Given the description of an element on the screen output the (x, y) to click on. 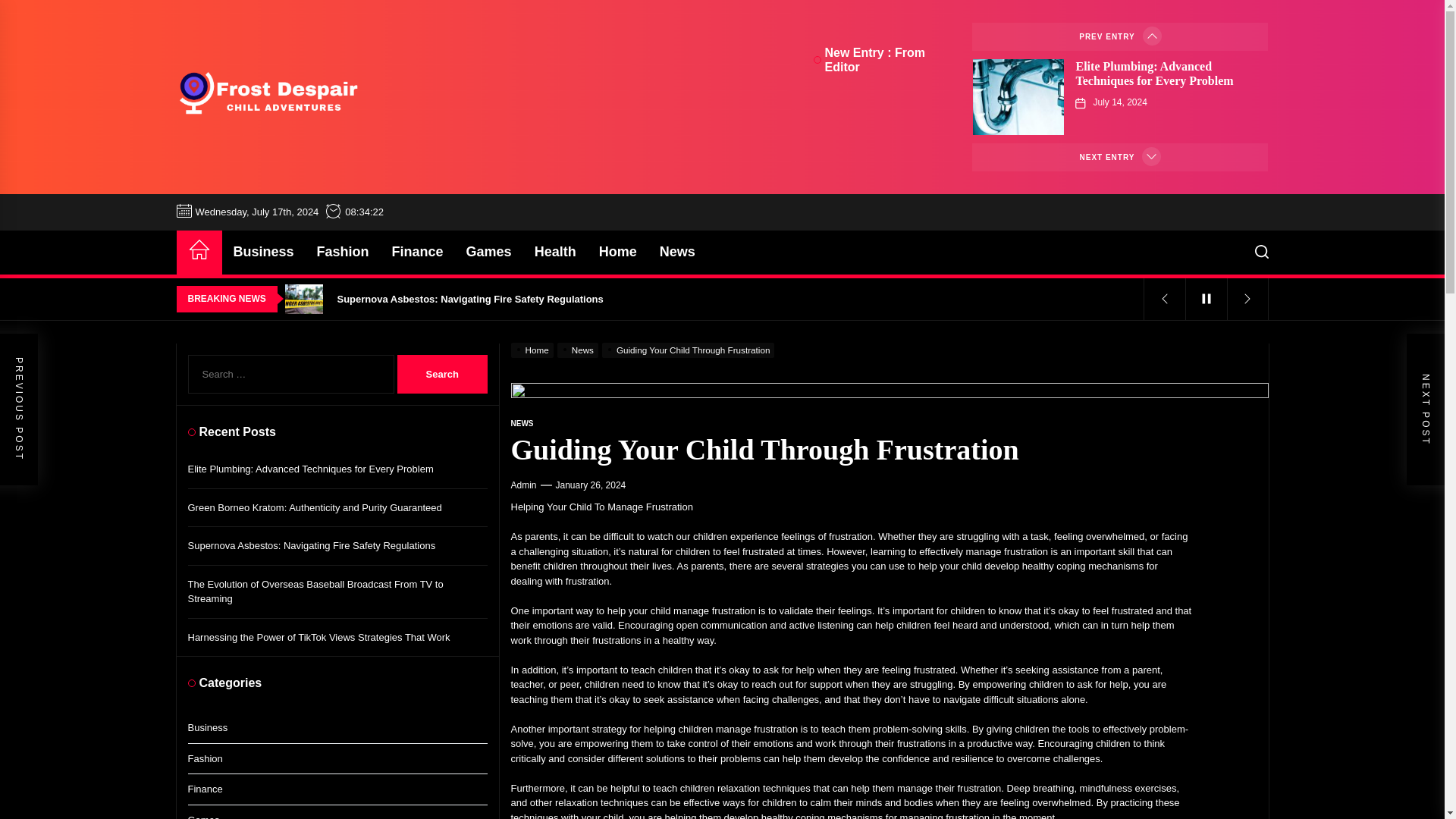
July 14, 2024 (1120, 101)
Elite Plumbing: Advanced Techniques for Every Problem (1154, 72)
Search (442, 373)
Elite Plumbing: Advanced Techniques for Every Problem (1154, 72)
Fashion (342, 251)
Finance (417, 251)
Search (442, 373)
Home (198, 252)
Business (262, 251)
Frost Despair (282, 145)
Green Borneo Kratom: Authenticity and Purity Guaranteed (717, 268)
